Given the description of an element on the screen output the (x, y) to click on. 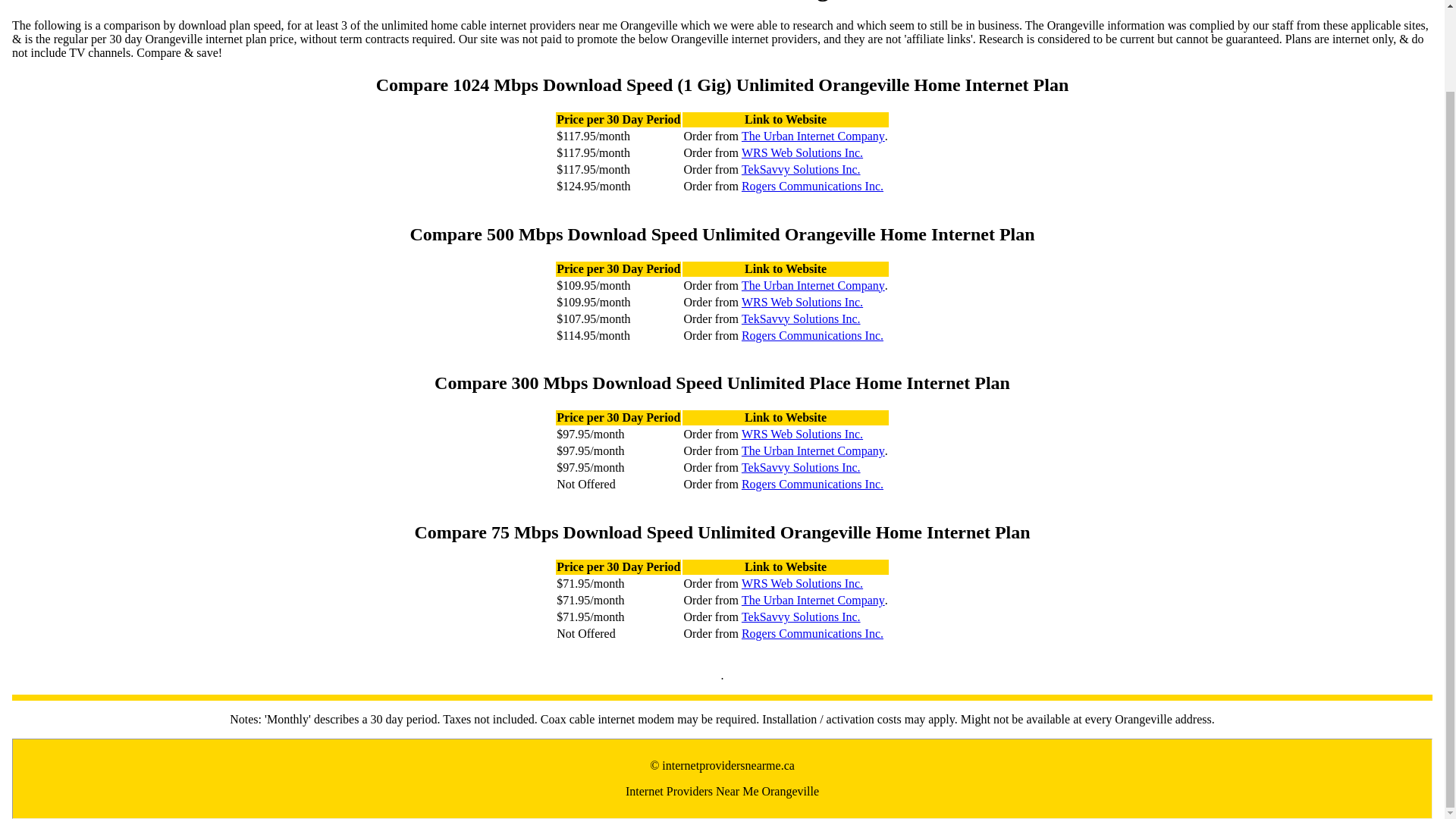
Rogers Communications Inc. (812, 633)
TekSavvy Solutions Inc. (800, 617)
The Urban Internet Company (813, 136)
TekSavvy Solutions Inc. (800, 169)
The Urban Internet Company (813, 600)
WRS Web Solutions Inc. (802, 152)
Rogers Communications Inc. (812, 484)
The Urban Internet Company (813, 450)
The Urban Internet Company (813, 284)
TekSavvy Solutions Inc. (800, 468)
